Given the description of an element on the screen output the (x, y) to click on. 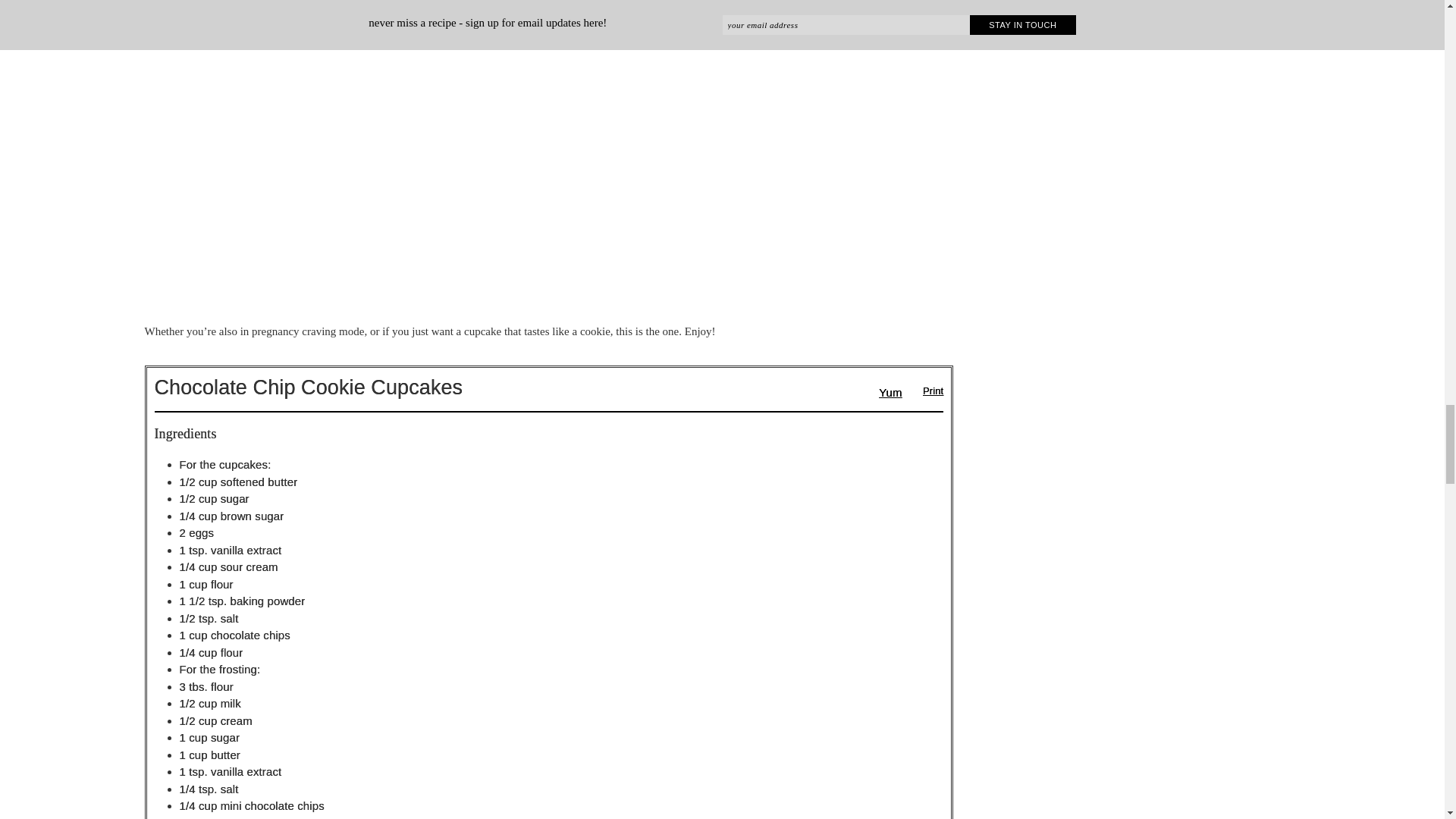
Print this recipe (925, 388)
Yum (890, 391)
Print (925, 388)
